Given the description of an element on the screen output the (x, y) to click on. 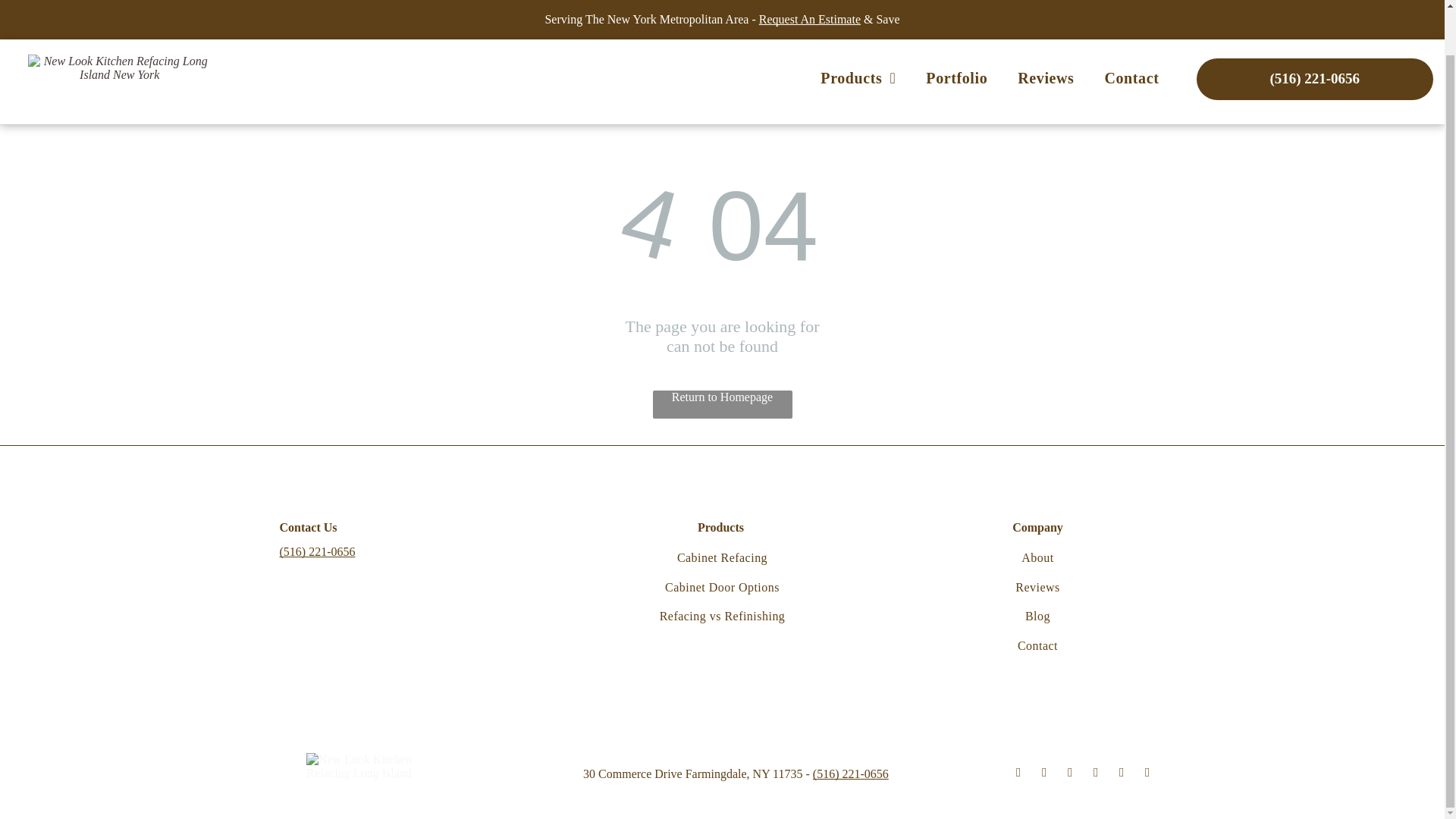
Reviews (1037, 587)
Contact (1131, 30)
Portfolio (957, 30)
Blog (1037, 615)
Return to Homepage (722, 404)
Cabinet Door Options (721, 587)
About (1037, 557)
Reviews (1046, 30)
Cabinet Refacing (721, 557)
Products (858, 30)
